Given the description of an element on the screen output the (x, y) to click on. 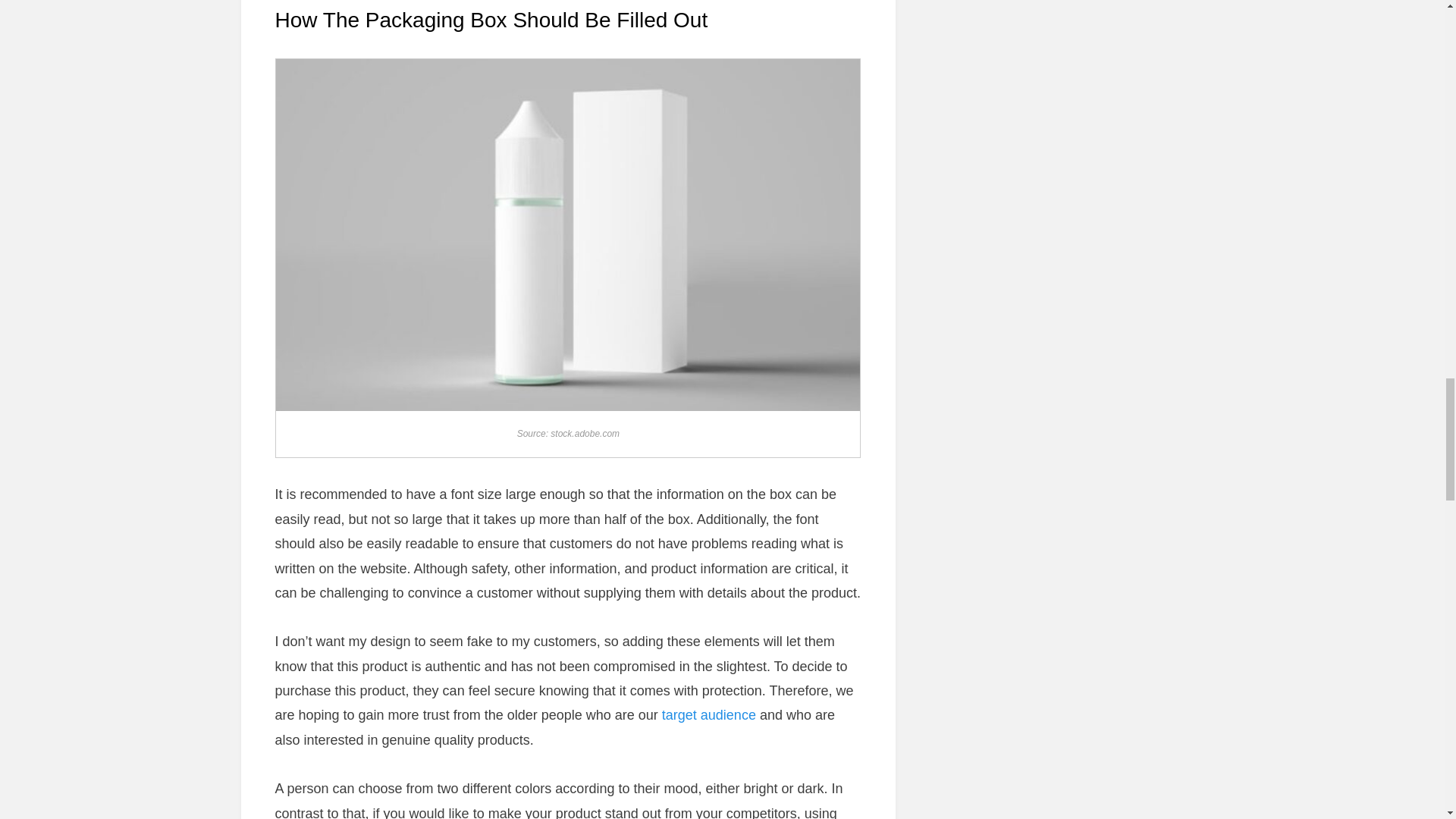
target audience (708, 714)
